Given the description of an element on the screen output the (x, y) to click on. 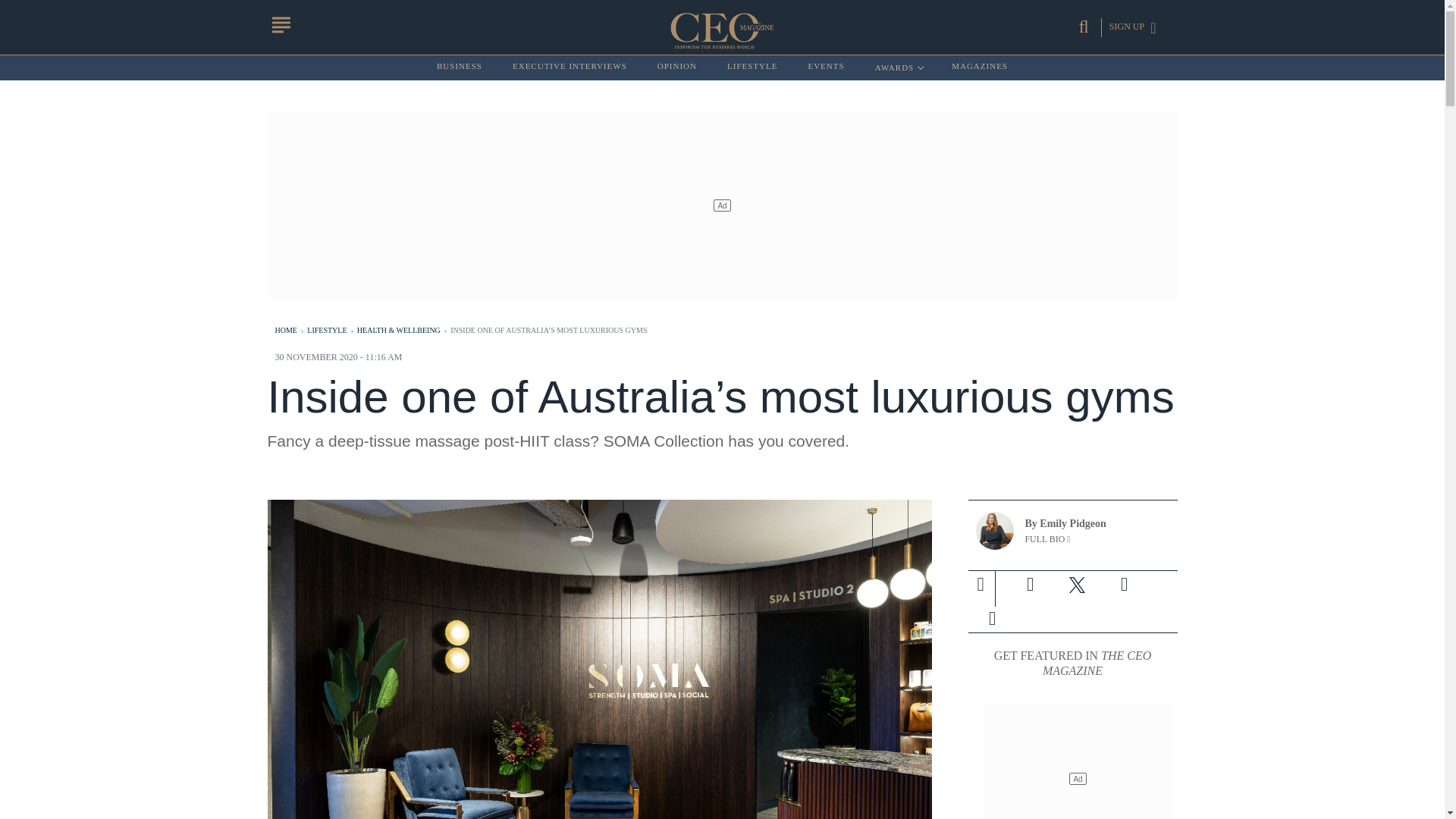
EXECUTIVE INTERVIEWS (569, 66)
LIFESTYLE (751, 66)
Executive Interviews (569, 66)
BUSINESS (458, 66)
Opinion (898, 67)
MAGAZINES (677, 66)
EVENTS (979, 66)
OPINION (826, 66)
